Given the description of an element on the screen output the (x, y) to click on. 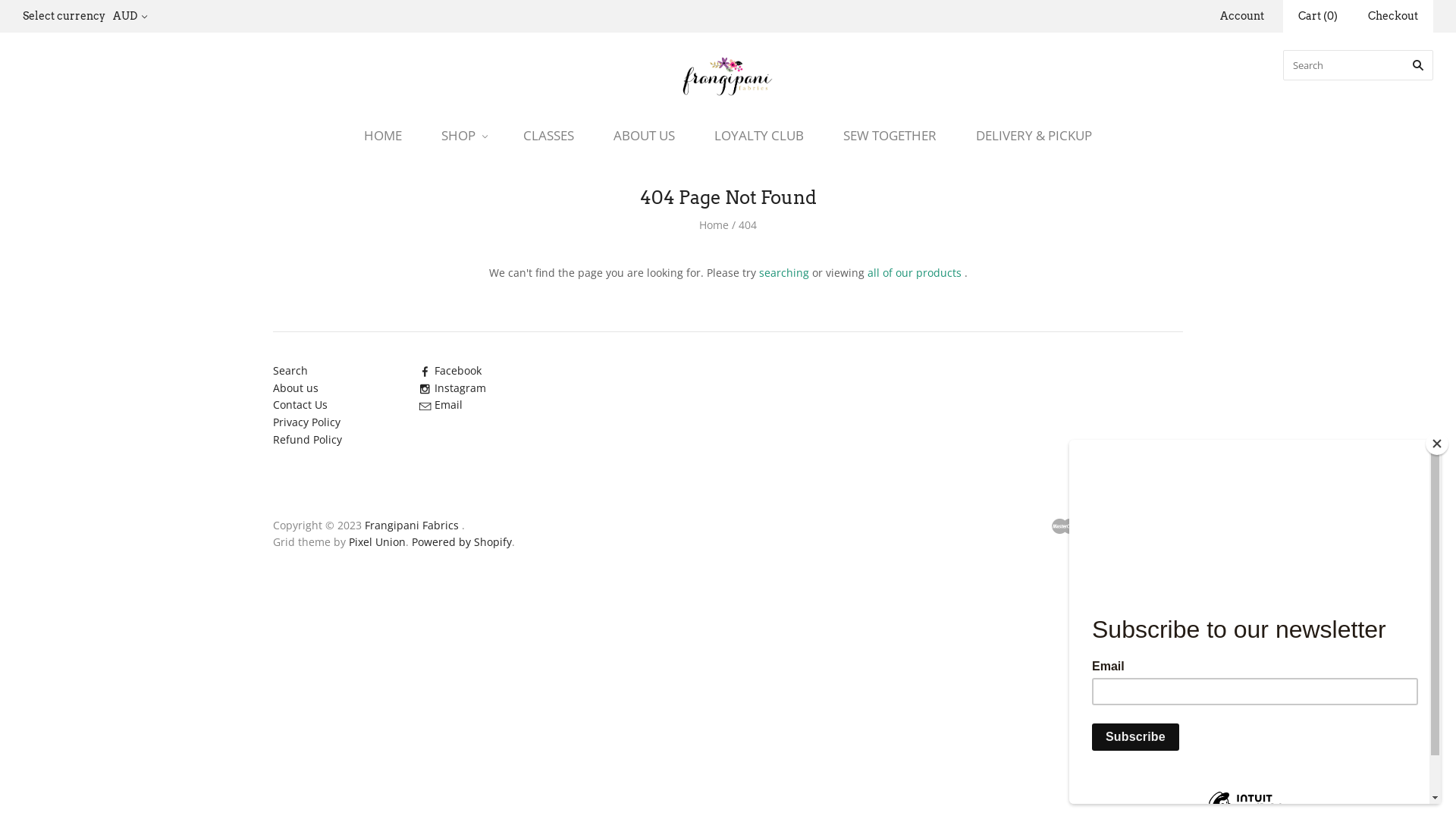
Search Element type: text (290, 370)
HOME Element type: text (382, 134)
Home Element type: text (713, 224)
DELIVERY & PICKUP Element type: text (1033, 134)
Contact Us Element type: text (300, 404)
ABOUT US Element type: text (643, 134)
Instagram Element type: text (452, 387)
Refund Policy Element type: text (307, 439)
Checkout Element type: text (1392, 16)
CLASSES Element type: text (548, 134)
About us Element type: text (295, 387)
SHOP Element type: text (462, 134)
all of our products Element type: text (914, 272)
searching Element type: text (783, 272)
LOYALTY CLUB Element type: text (758, 134)
Frangipani Fabrics Element type: text (411, 524)
Email Element type: text (440, 404)
Powered by Shopify Element type: text (461, 541)
Facebook Element type: text (449, 370)
Account Element type: text (1242, 15)
SEW TOGETHER Element type: text (889, 134)
Privacy Policy Element type: text (306, 421)
Pixel Union Element type: text (376, 541)
Cart (0) Element type: text (1317, 16)
